Given the description of an element on the screen output the (x, y) to click on. 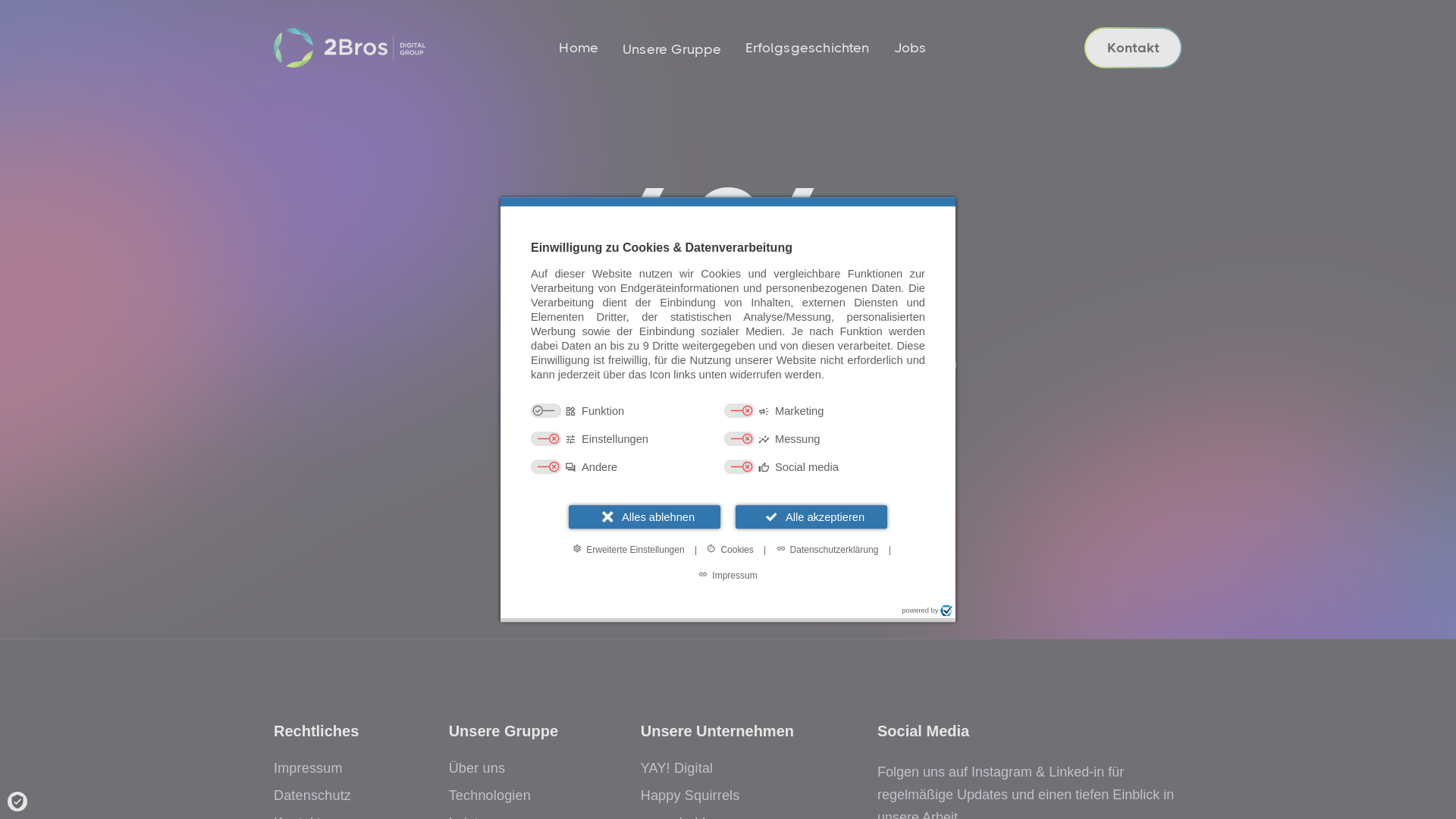
Jobs Element type: text (910, 47)
Home Element type: text (578, 47)
Impressum Element type: text (727, 574)
Cookies Element type: text (729, 548)
Alles ablehnen Element type: text (644, 516)
Technologien Element type: text (489, 795)
Erfolgsgeschichten Element type: text (807, 47)
YAY! Digital Element type: text (676, 767)
Impressum Element type: text (307, 767)
zur Startseite Element type: text (727, 460)
Datenschutz Element type: text (312, 795)
Erweiterte Einstellungen Element type: text (627, 548)
Happy Squirrels Element type: text (690, 795)
Kontakt Element type: text (1132, 47)
Datenschutz-Einstellungen Element type: hover (17, 801)
Alle akzeptieren Element type: text (811, 516)
